Given the description of an element on the screen output the (x, y) to click on. 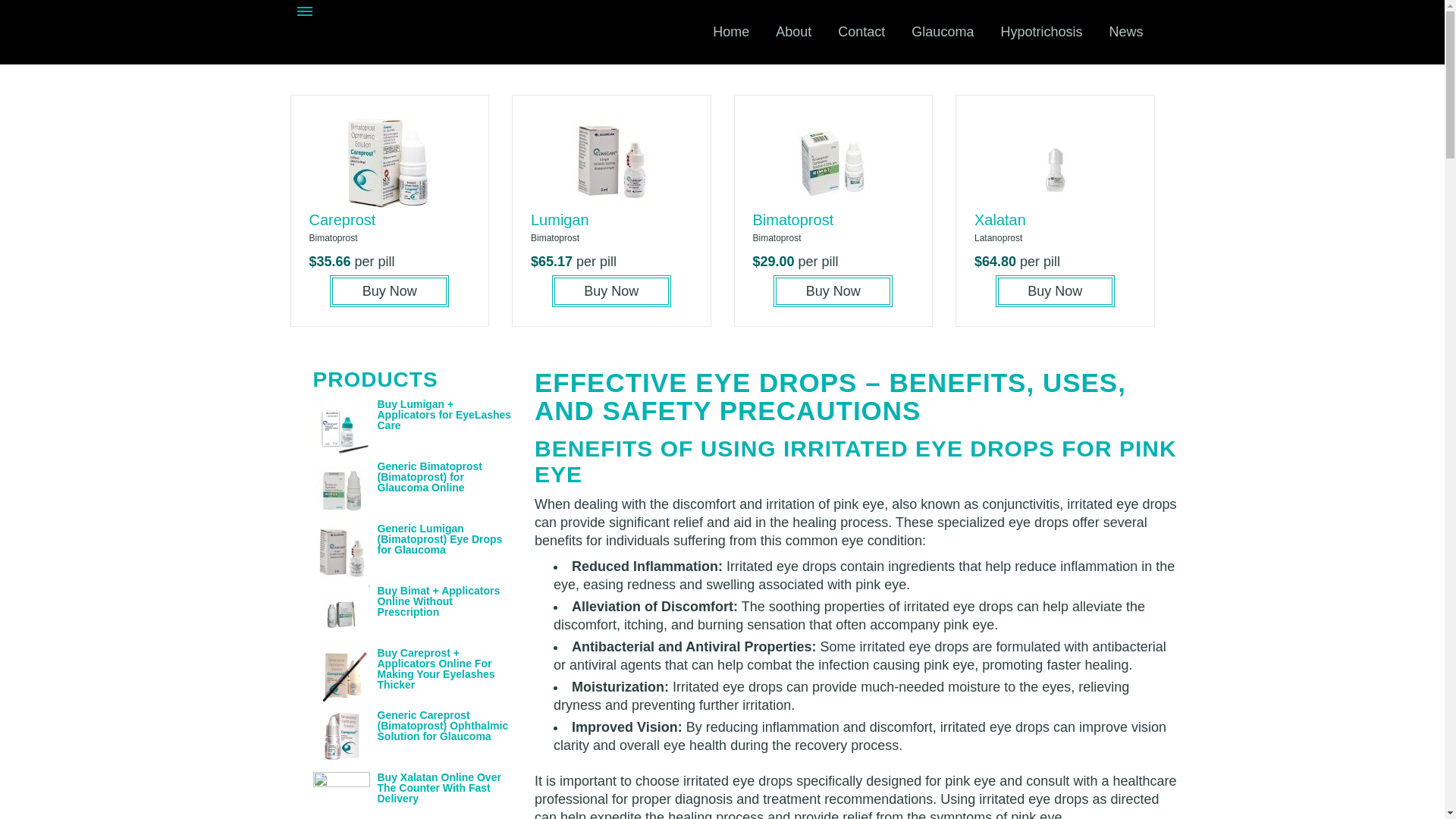
Home (730, 32)
Bimatoprost (792, 219)
Careprost (341, 219)
Contact (861, 32)
Buy Xalatan Online Over The Counter With Fast Delivery (438, 787)
Menu (304, 13)
Buy Now (832, 290)
Buy Now (389, 290)
Xalatan (1000, 219)
Hypotrichosis (1040, 32)
Buy Now (611, 290)
News (1125, 32)
Buy Xalatan Online Over The Counter With Fast Delivery (438, 787)
Lumigan (560, 219)
Buy Now (1055, 290)
